Given the description of an element on the screen output the (x, y) to click on. 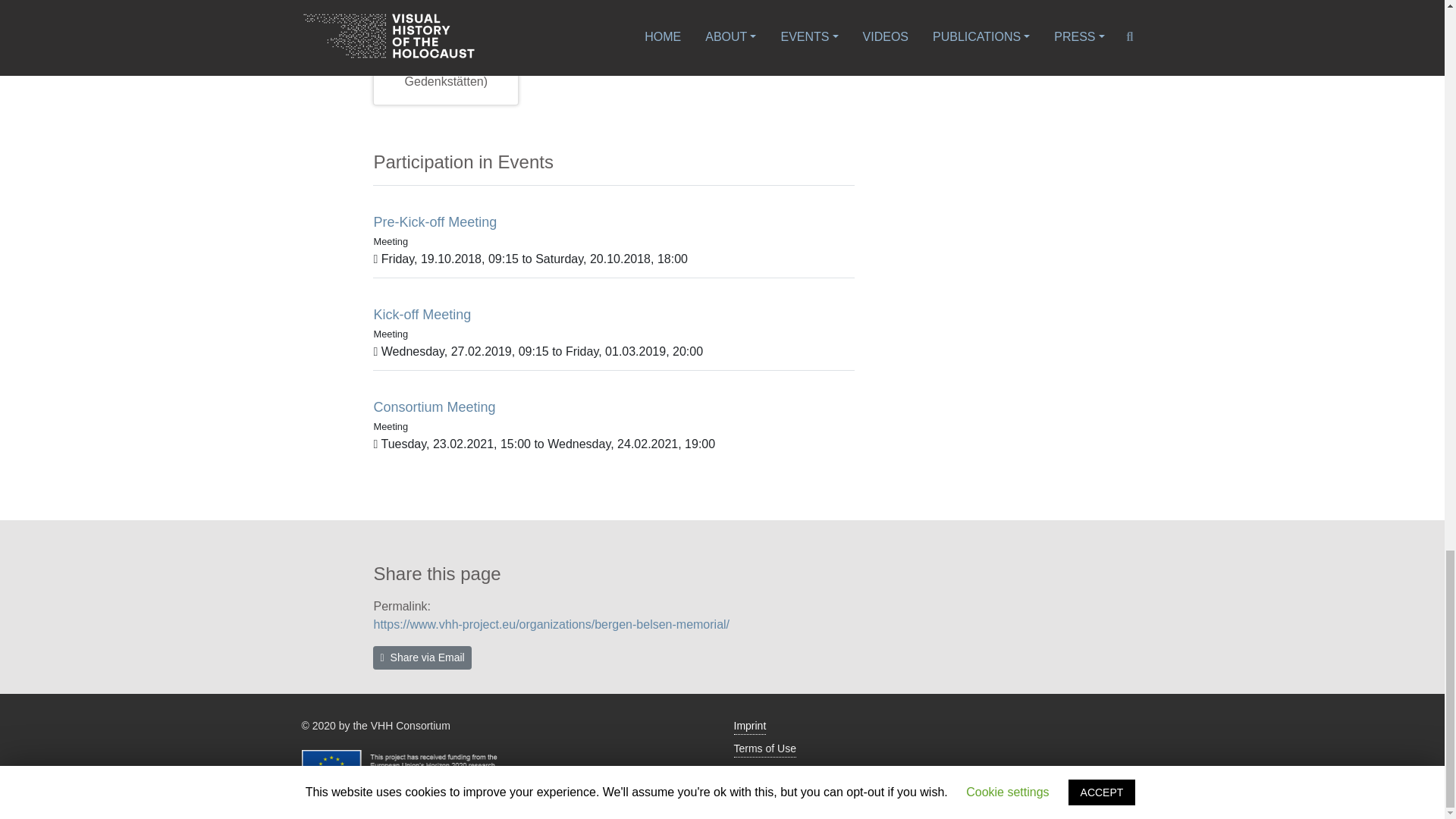
Consortium Meeting (433, 406)
Pre-Kick-off Meeting (434, 222)
Terms of Use (764, 749)
Kick-off Meeting (421, 314)
Imprint (750, 726)
Share via Email (421, 657)
Privacy Policy (766, 771)
